Given the description of an element on the screen output the (x, y) to click on. 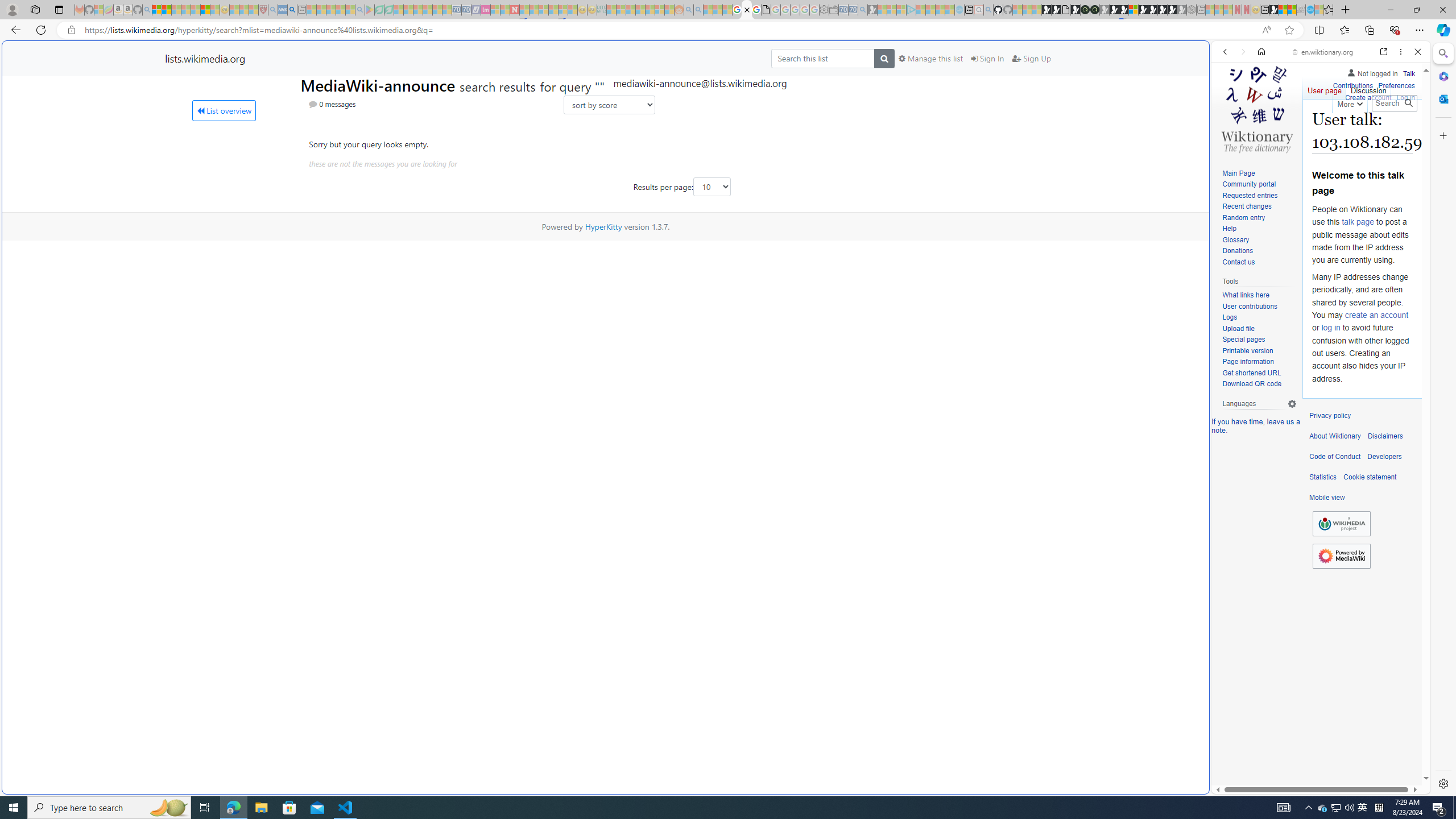
What links here (1259, 295)
utah sues federal government - Search (922, 389)
World - MSN (727, 389)
Wallet - Sleeping (833, 9)
Visit the main page (1257, 108)
Not logged in (1371, 71)
